Given the description of an element on the screen output the (x, y) to click on. 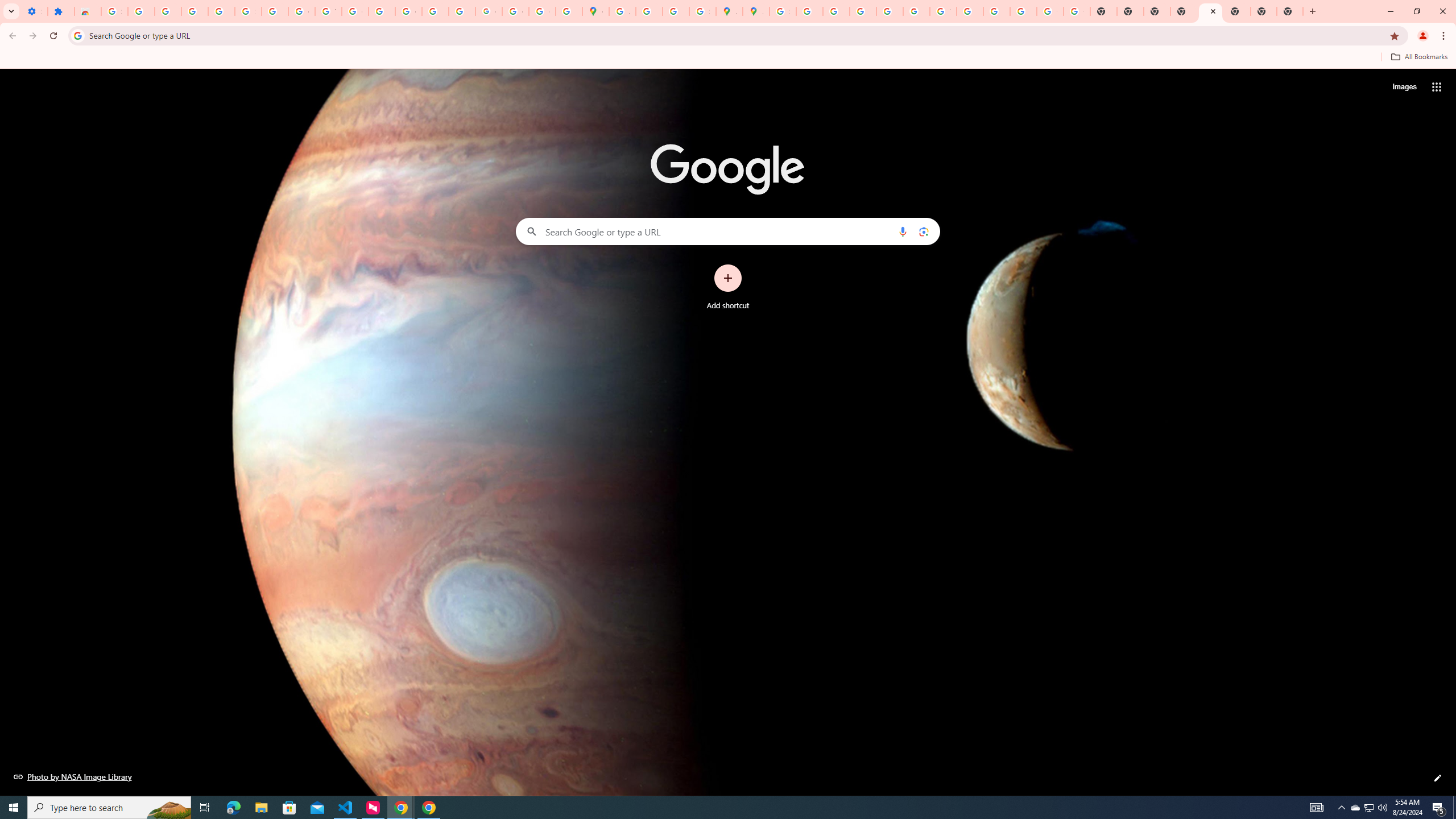
Privacy Help Center - Policies Help (862, 11)
New Tab (1210, 11)
New Tab (1262, 11)
Sign in - Google Accounts (248, 11)
Sign in - Google Accounts (114, 11)
